Given the description of an element on the screen output the (x, y) to click on. 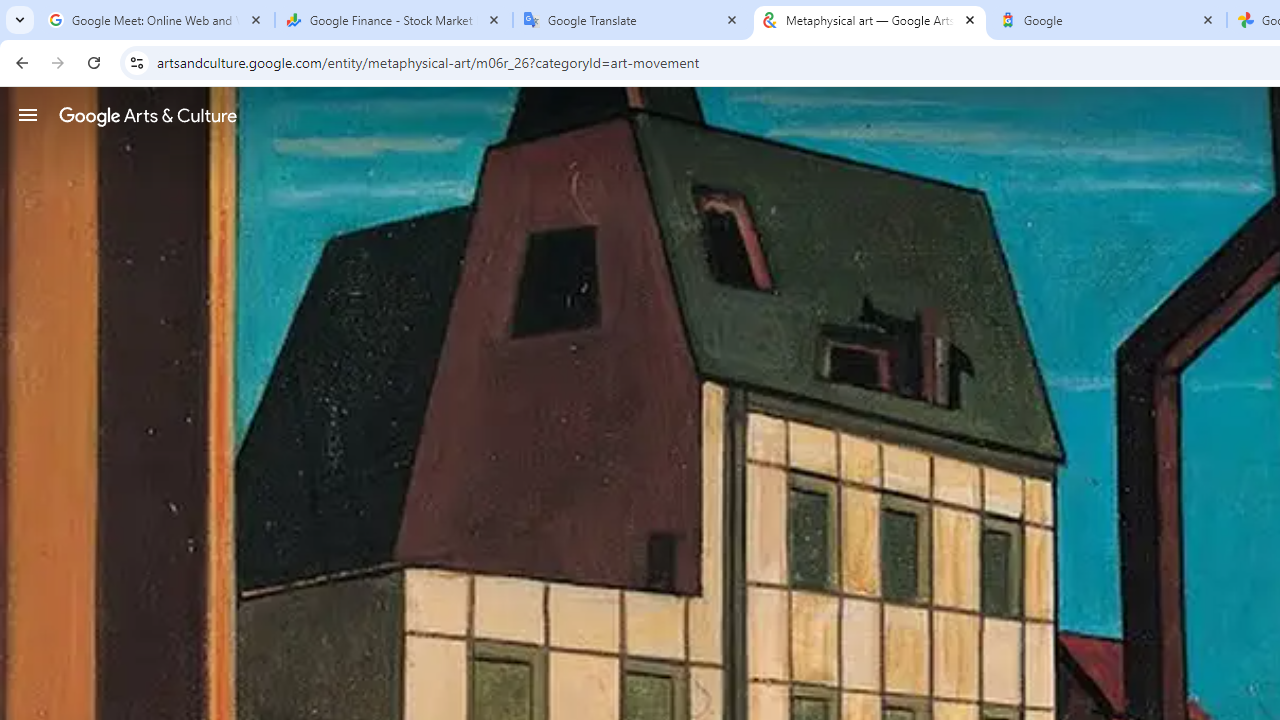
Google (1108, 20)
Google Arts & Culture (148, 115)
Google Translate (632, 20)
Menu (27, 114)
